Given the description of an element on the screen output the (x, y) to click on. 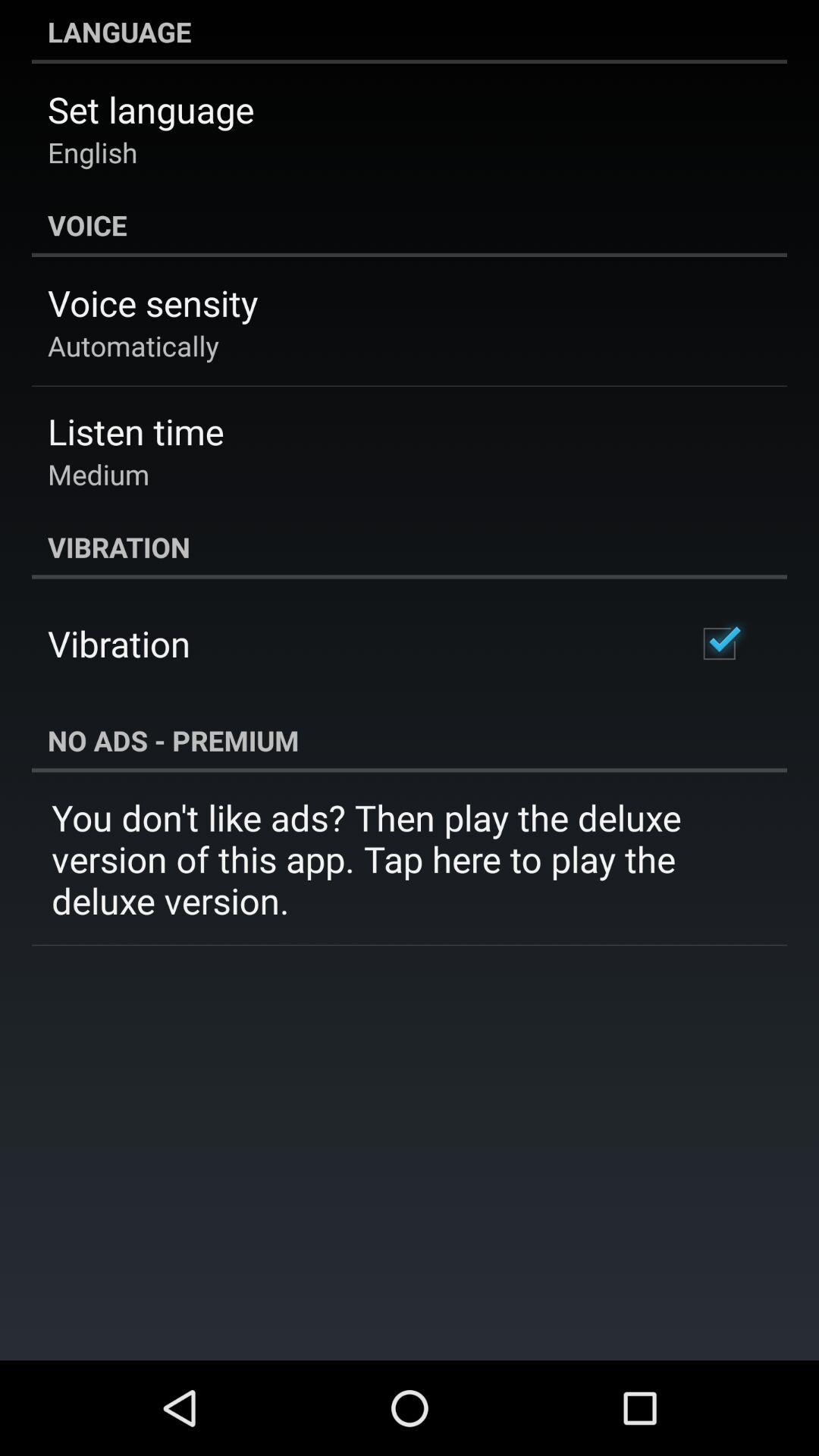
click item below the vibration icon (719, 643)
